Given the description of an element on the screen output the (x, y) to click on. 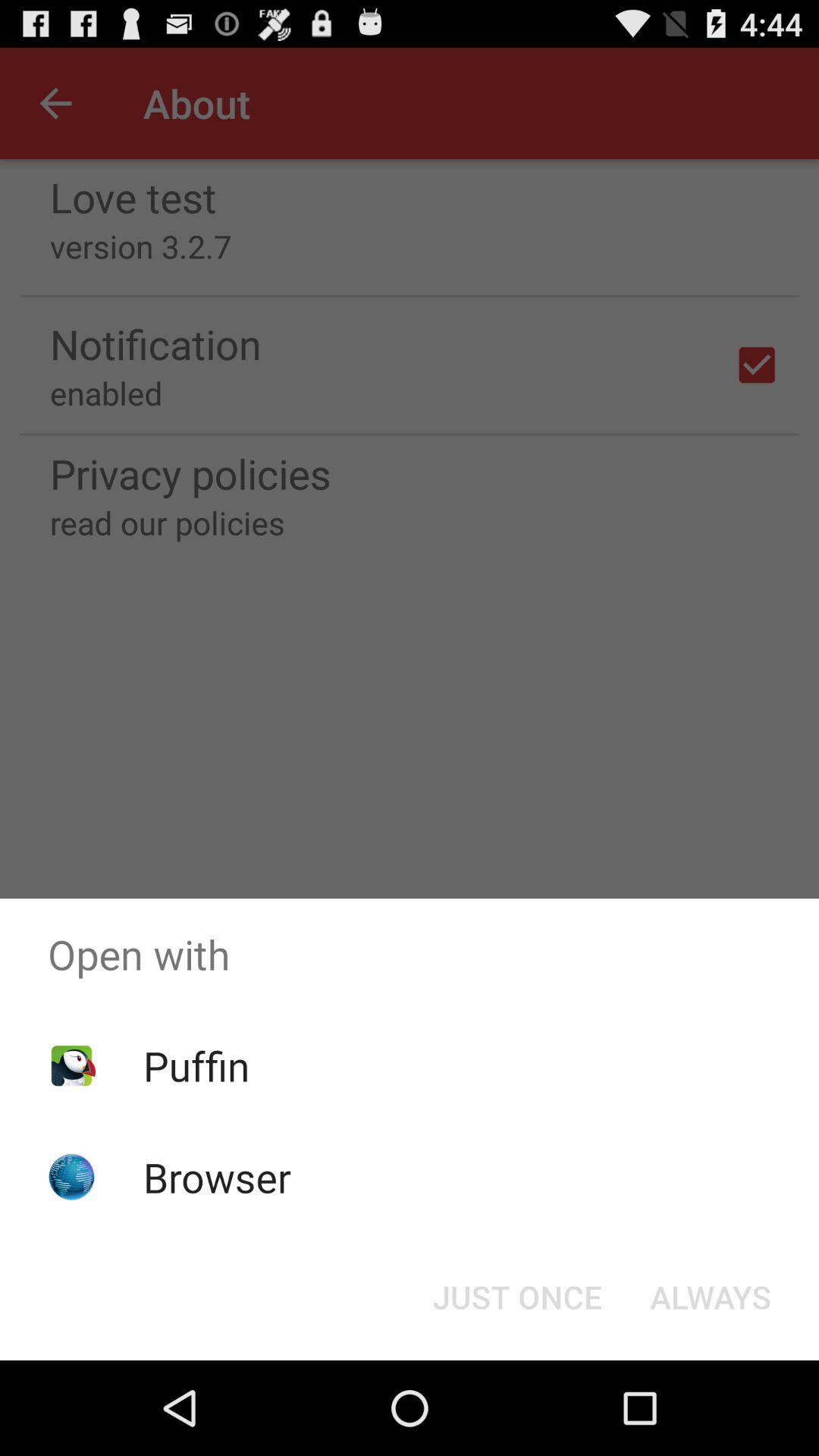
turn on the icon to the left of always icon (517, 1296)
